Given the description of an element on the screen output the (x, y) to click on. 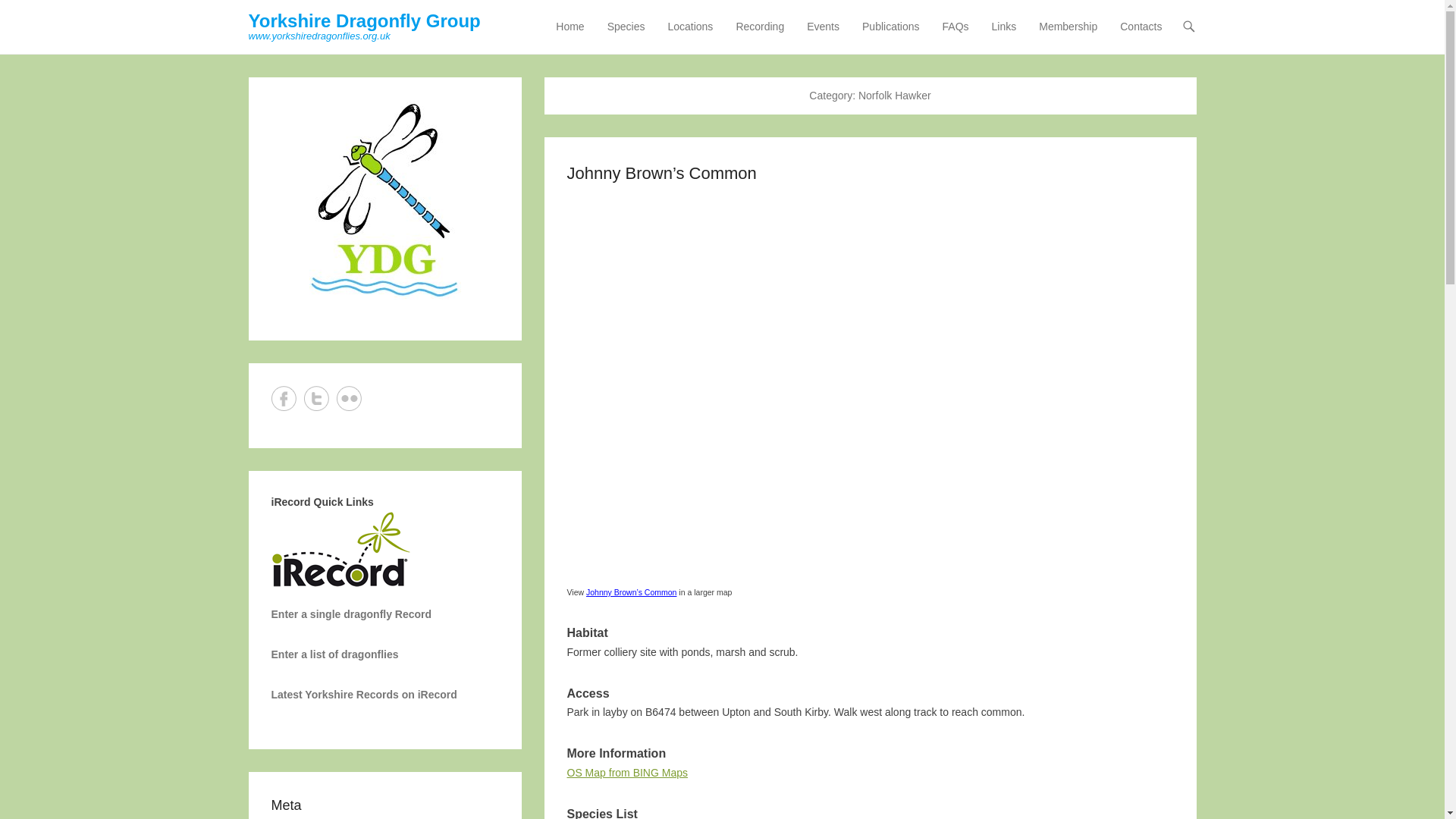
FAQs (955, 35)
Events (823, 35)
Skip to content (583, 27)
Membership (1067, 35)
Home (569, 35)
Skip to content (583, 27)
Publications (890, 35)
Locations (689, 35)
Yorkshire Dragonfly Group (364, 20)
Species (625, 35)
Facebook (283, 398)
Contacts (1140, 35)
Flickr (348, 398)
Yorkshire Dragonfly Group (364, 20)
Recording (760, 35)
